Given the description of an element on the screen output the (x, y) to click on. 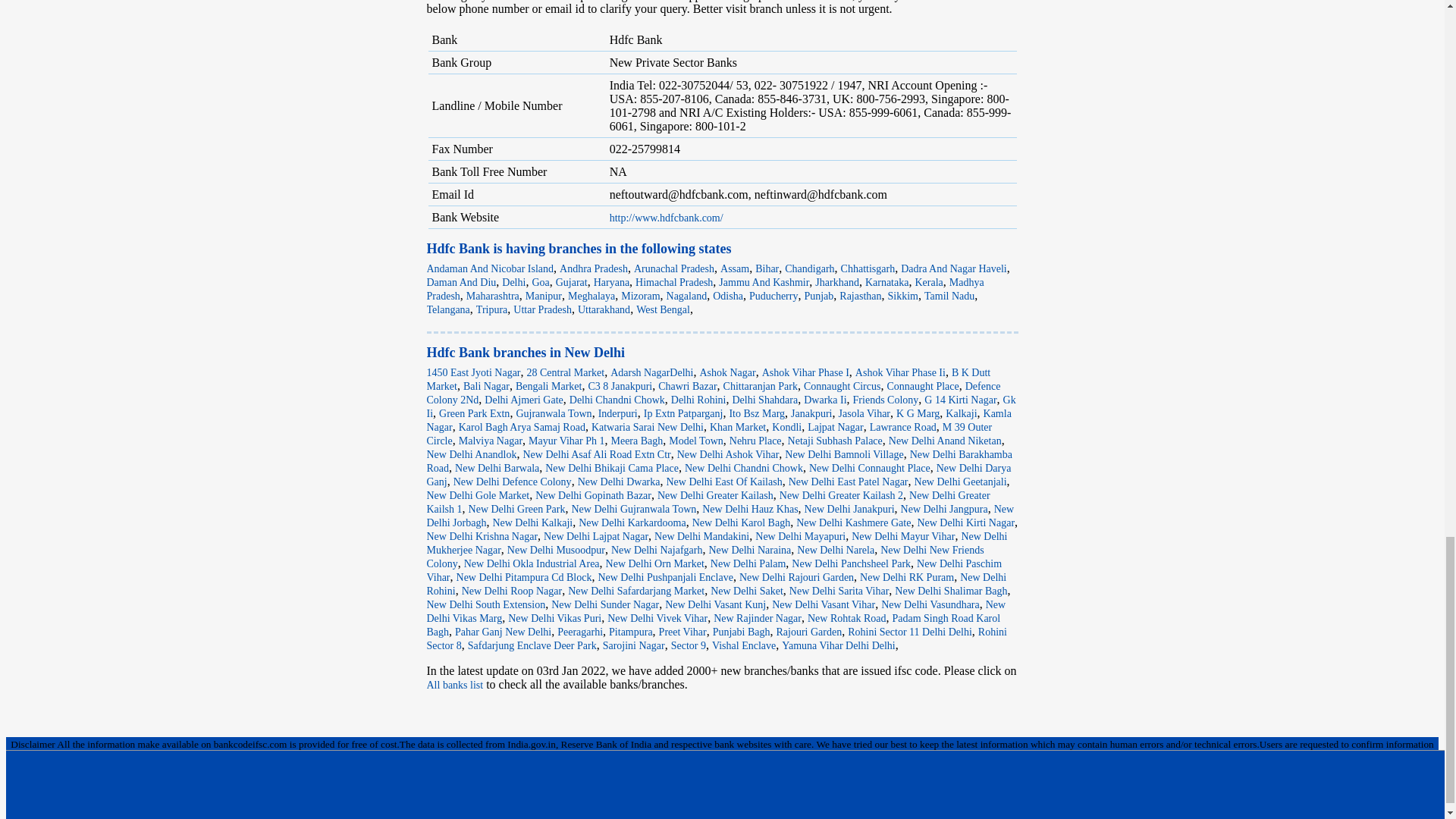
Mizoram (640, 296)
Andaman And Nicobar Island (489, 268)
Dadra And Nagar Haveli (954, 268)
Chandigarh (809, 268)
Puducherry (773, 296)
Bihar (766, 268)
Arunachal Pradesh (673, 268)
Chhattisgarh (868, 268)
Manipur (543, 296)
Delhi (513, 282)
Meghalaya (590, 296)
Odisha (727, 296)
Himachal Pradesh (673, 282)
Andhra Pradesh (593, 268)
Nagaland (686, 296)
